Given the description of an element on the screen output the (x, y) to click on. 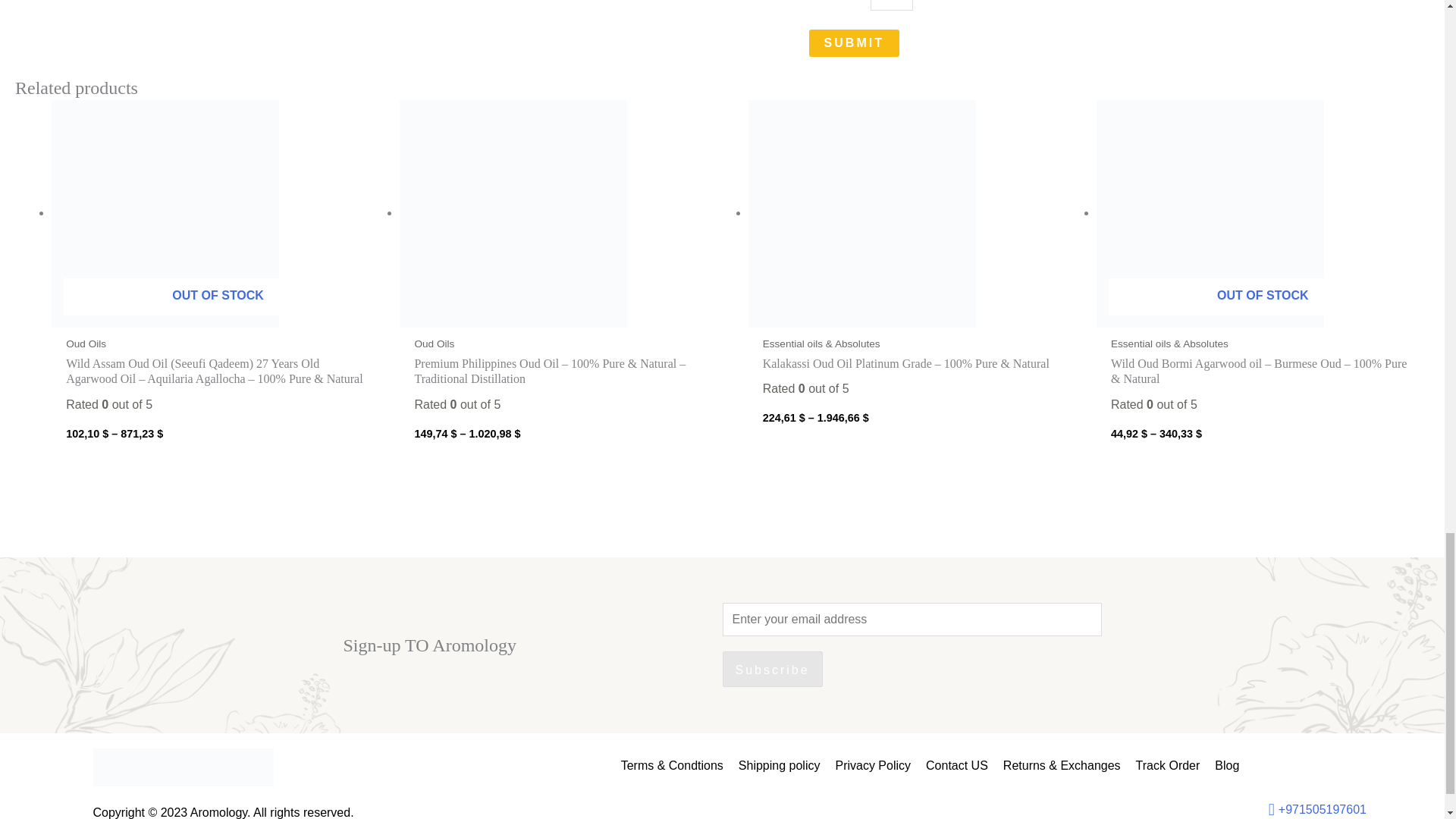
Submit (854, 42)
pngwing.com (183, 767)
